Given the description of an element on the screen output the (x, y) to click on. 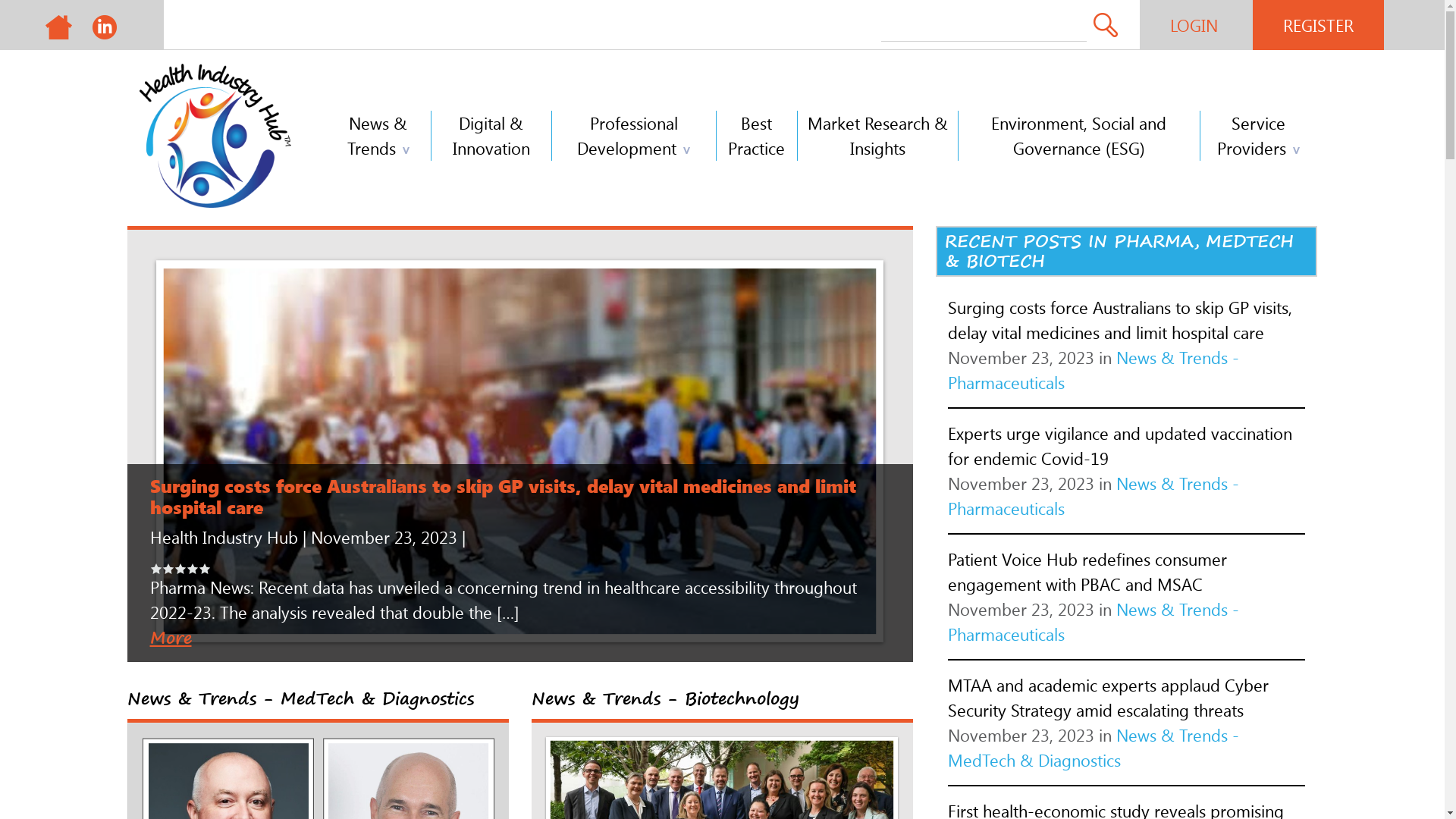
Health Industry Hub LinkedIn Element type: hover (104, 24)
Search Element type: text (1105, 24)
Service Providers Element type: text (1258, 135)
LOGIN Element type: text (1193, 25)
REGISTER Element type: text (1317, 25)
Digital & Innovation Element type: text (491, 135)
Professional Development Element type: text (634, 135)
Health Industry Hub Element type: hover (58, 24)
Environment, Social and Governance (ESG) Element type: text (1079, 135)
Best Practice Element type: text (756, 135)
More Element type: text (170, 637)
News & Trends Element type: text (378, 135)
Market Research & Insights Element type: text (877, 135)
